Given the description of an element on the screen output the (x, y) to click on. 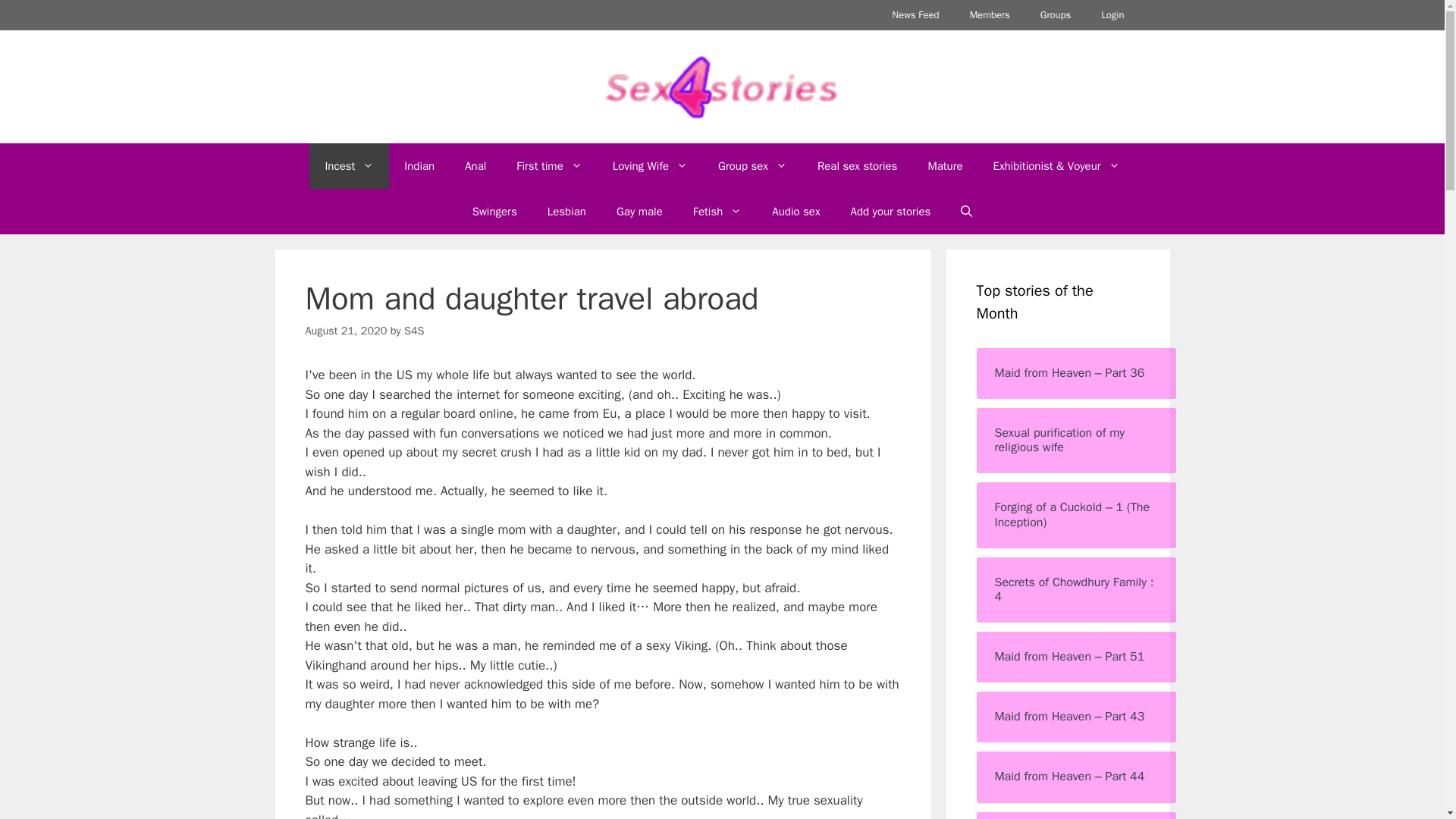
News Feed (916, 15)
Members (990, 15)
View all posts by S4S (414, 330)
Groups (1055, 15)
Login (1112, 15)
